Given the description of an element on the screen output the (x, y) to click on. 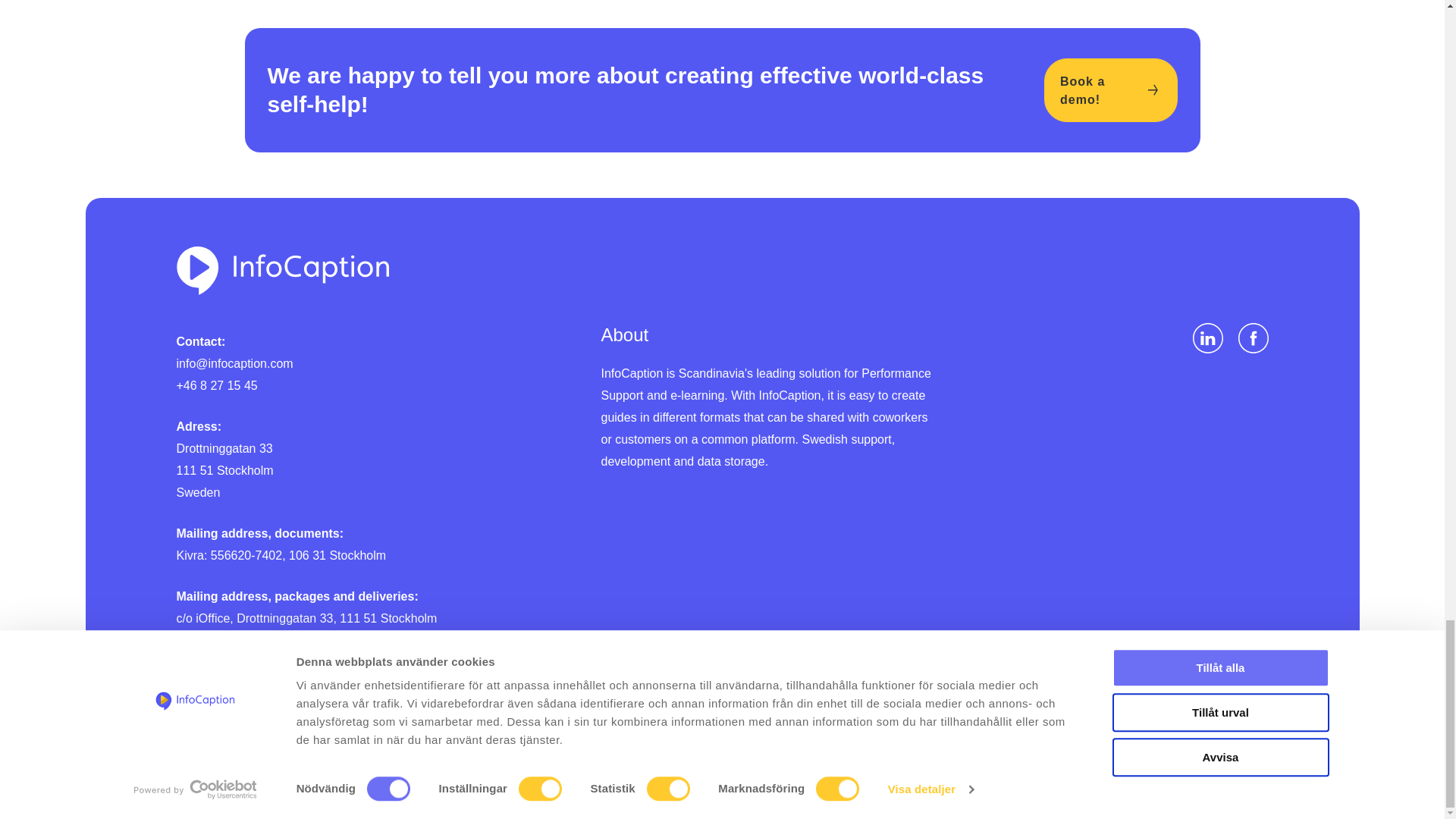
Book a demo! (1110, 90)
